Given the description of an element on the screen output the (x, y) to click on. 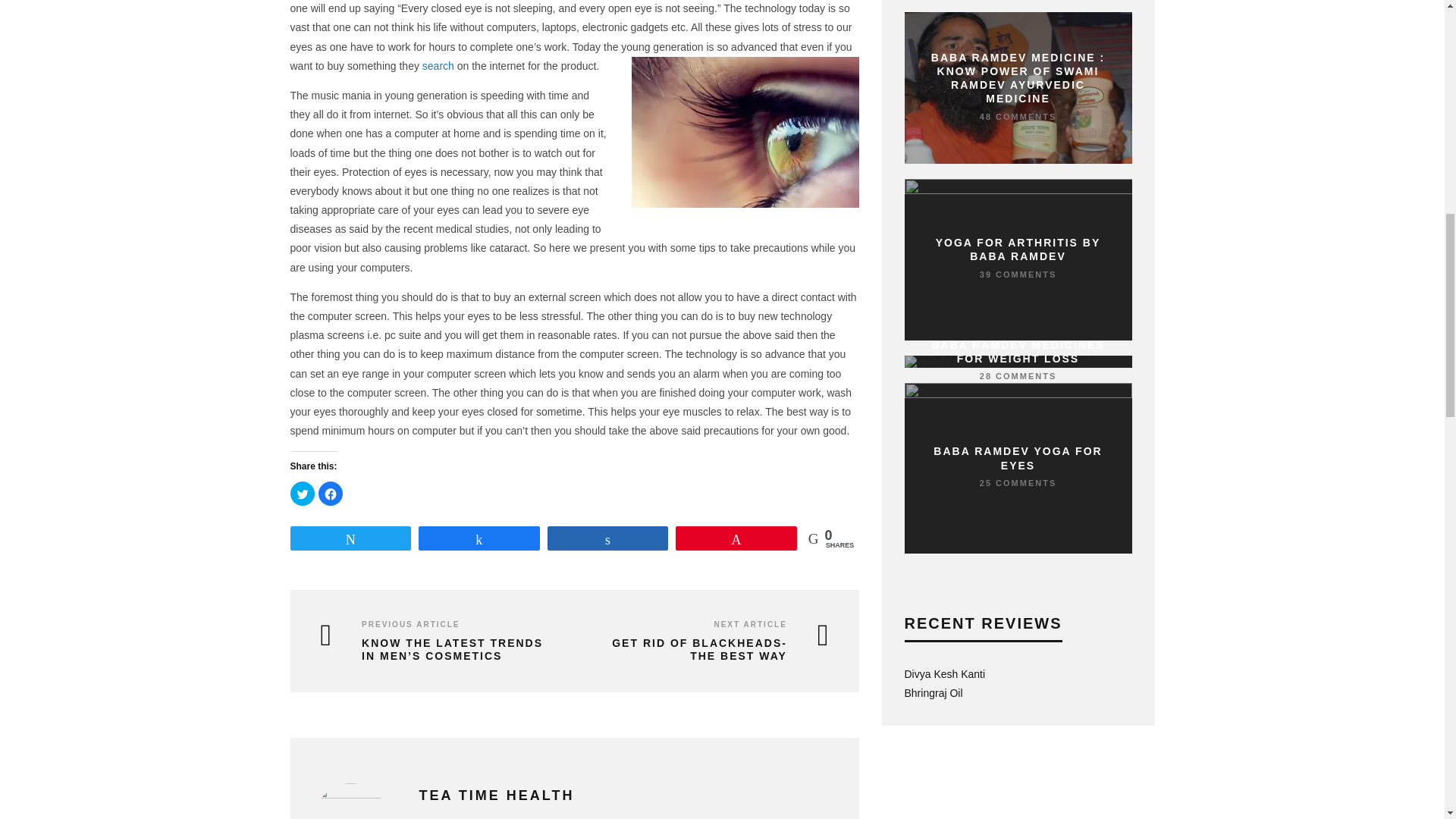
Click to share on Facebook (330, 493)
4 (1087, 689)
search (438, 65)
Click to share on Twitter (301, 493)
Divya Kesh Kanti -Baba Ramdev Shampoo for Hair Loss (944, 674)
4 (1087, 671)
